Given the description of an element on the screen output the (x, y) to click on. 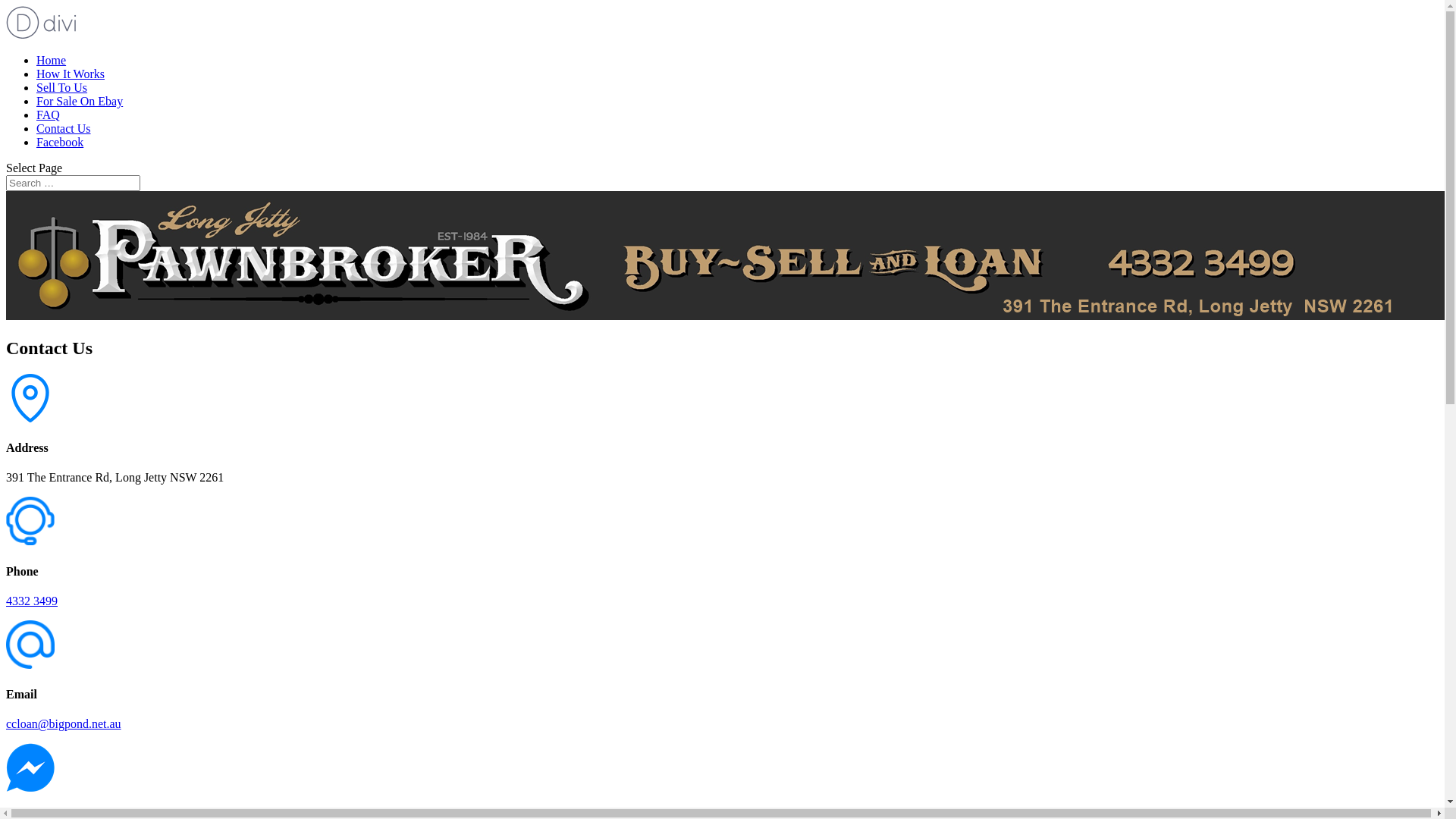
Central Coast Pawnbroker Long Jetty Contact Us Element type: hover (726, 255)
How It Works Element type: text (70, 73)
Facebook Element type: text (59, 141)
ccloan@bigpond.net.au Element type: text (63, 723)
Home Element type: text (50, 59)
FAQ Element type: text (47, 114)
Contact Us Element type: text (63, 128)
4332 3499 Element type: text (31, 600)
For Sale On Ebay Element type: text (79, 100)
Sell To Us Element type: text (61, 87)
Search for: Element type: hover (73, 183)
